Given the description of an element on the screen output the (x, y) to click on. 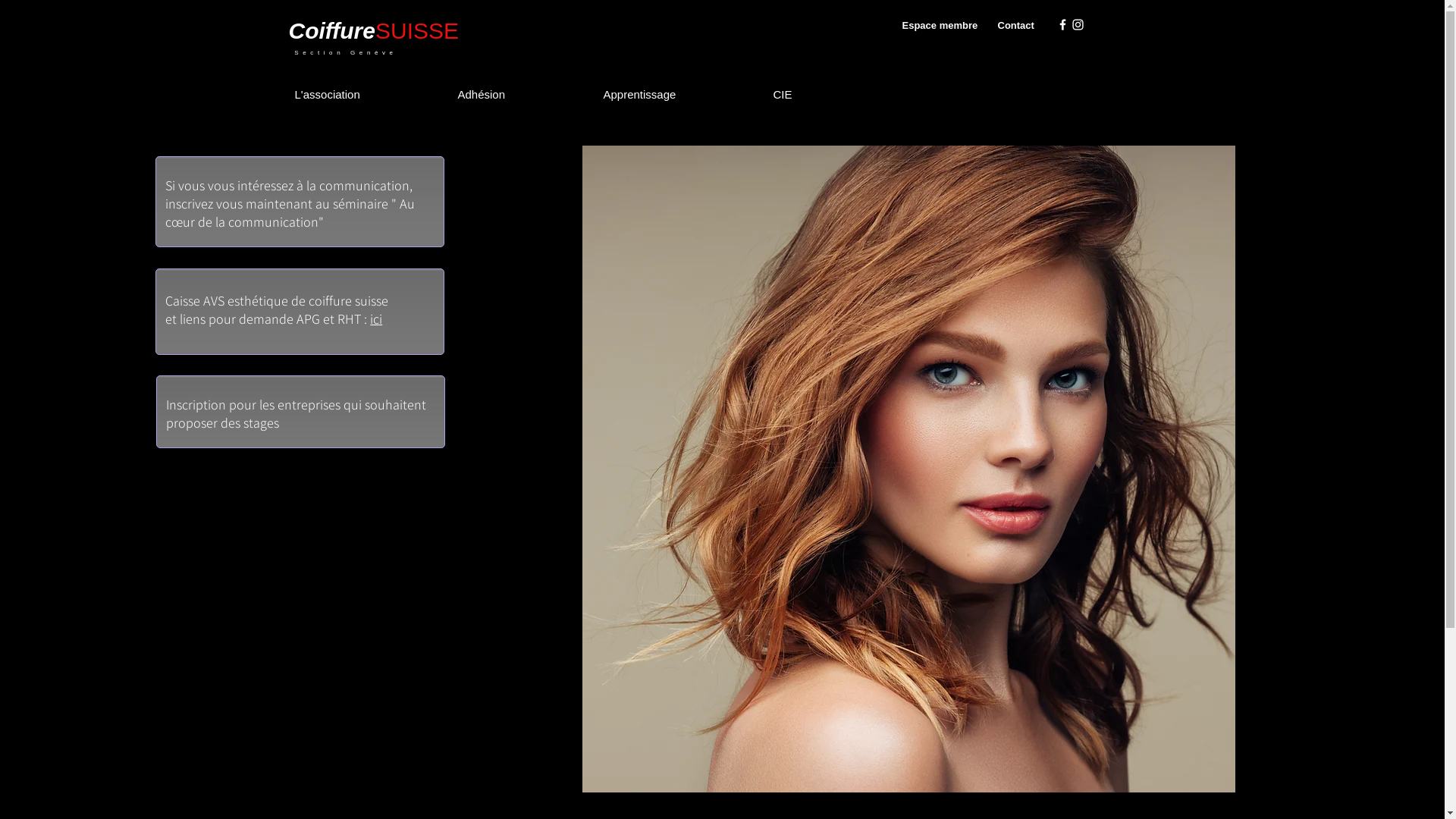
CIE Element type: text (824, 94)
CoiffureSUISSE Element type: text (373, 30)
ici Element type: text (376, 318)
L'association Element type: text (370, 94)
Contact Element type: text (1015, 25)
Apprentissage Element type: text (681, 94)
Espace membre Element type: text (940, 25)
